Given the description of an element on the screen output the (x, y) to click on. 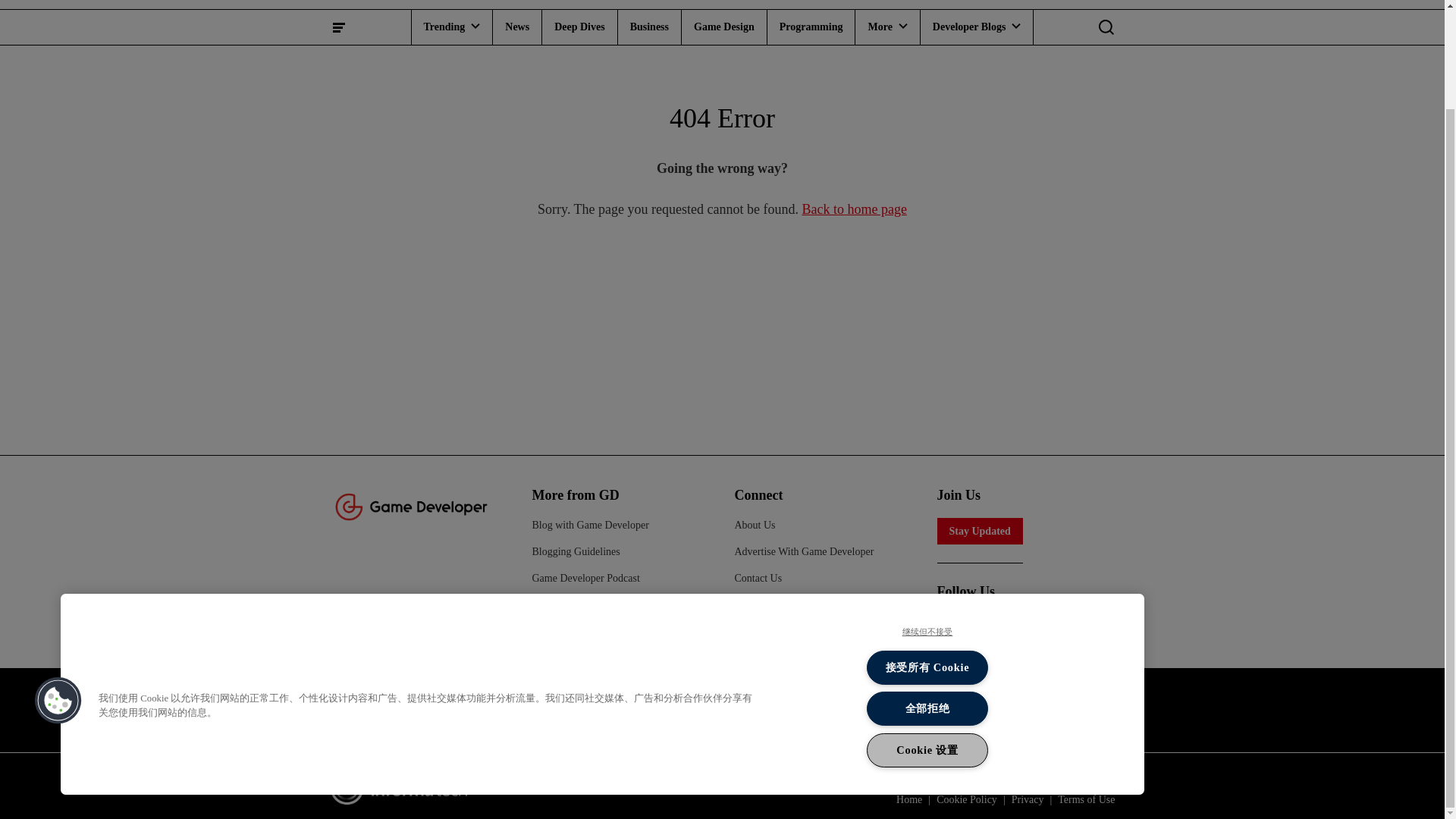
Business (649, 26)
Programming (810, 26)
Link to GDC (783, 710)
Game Design (724, 26)
Link to Omdia (999, 710)
Deep Dives (579, 26)
Informa Tech (404, 786)
Game Developer Logo (410, 505)
News (517, 26)
Link to Game Developer Job Board (560, 710)
